Given the description of an element on the screen output the (x, y) to click on. 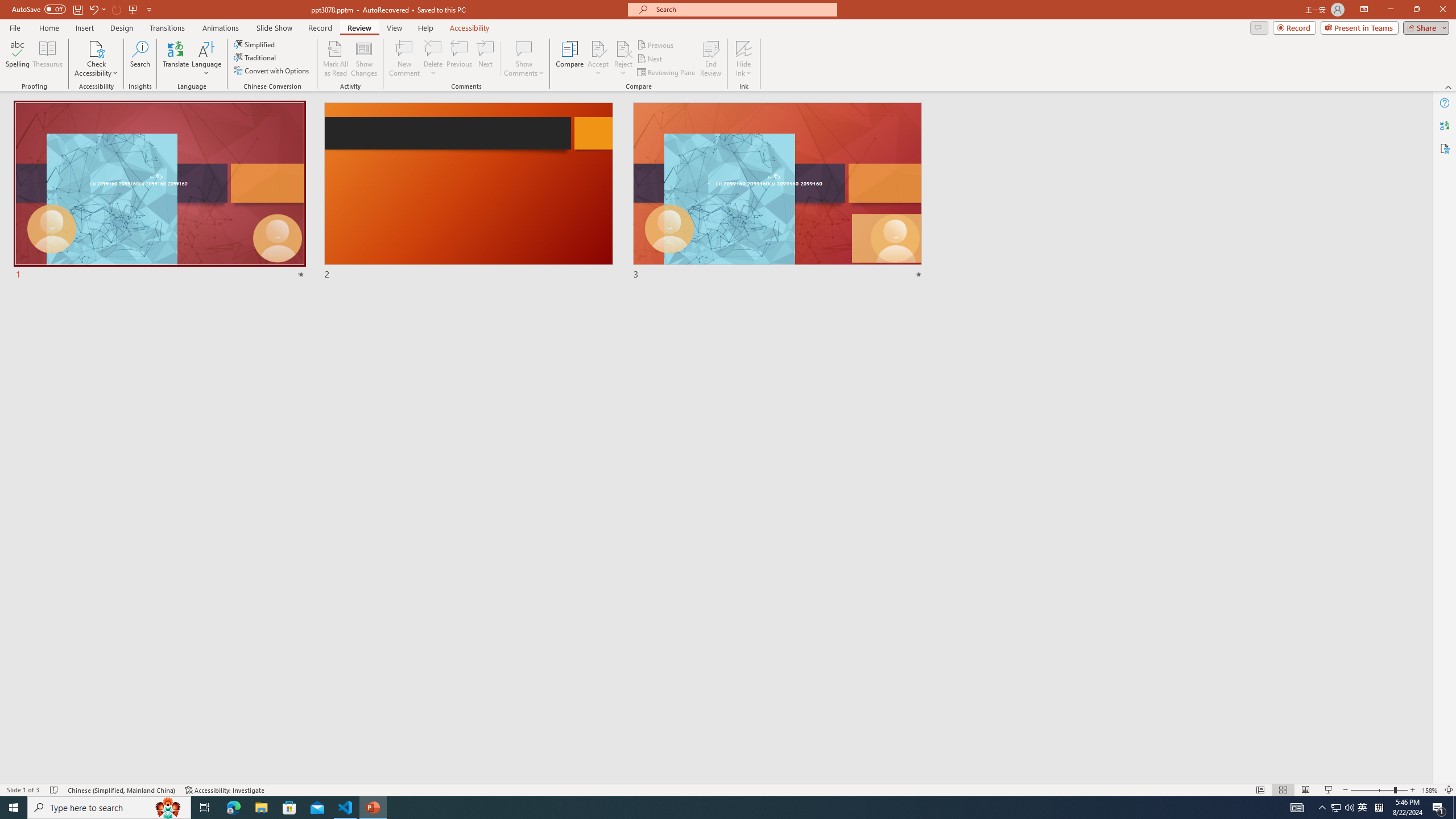
Language (206, 58)
Show Changes (363, 58)
Hide Ink (743, 48)
Simplified (254, 44)
